Given the description of an element on the screen output the (x, y) to click on. 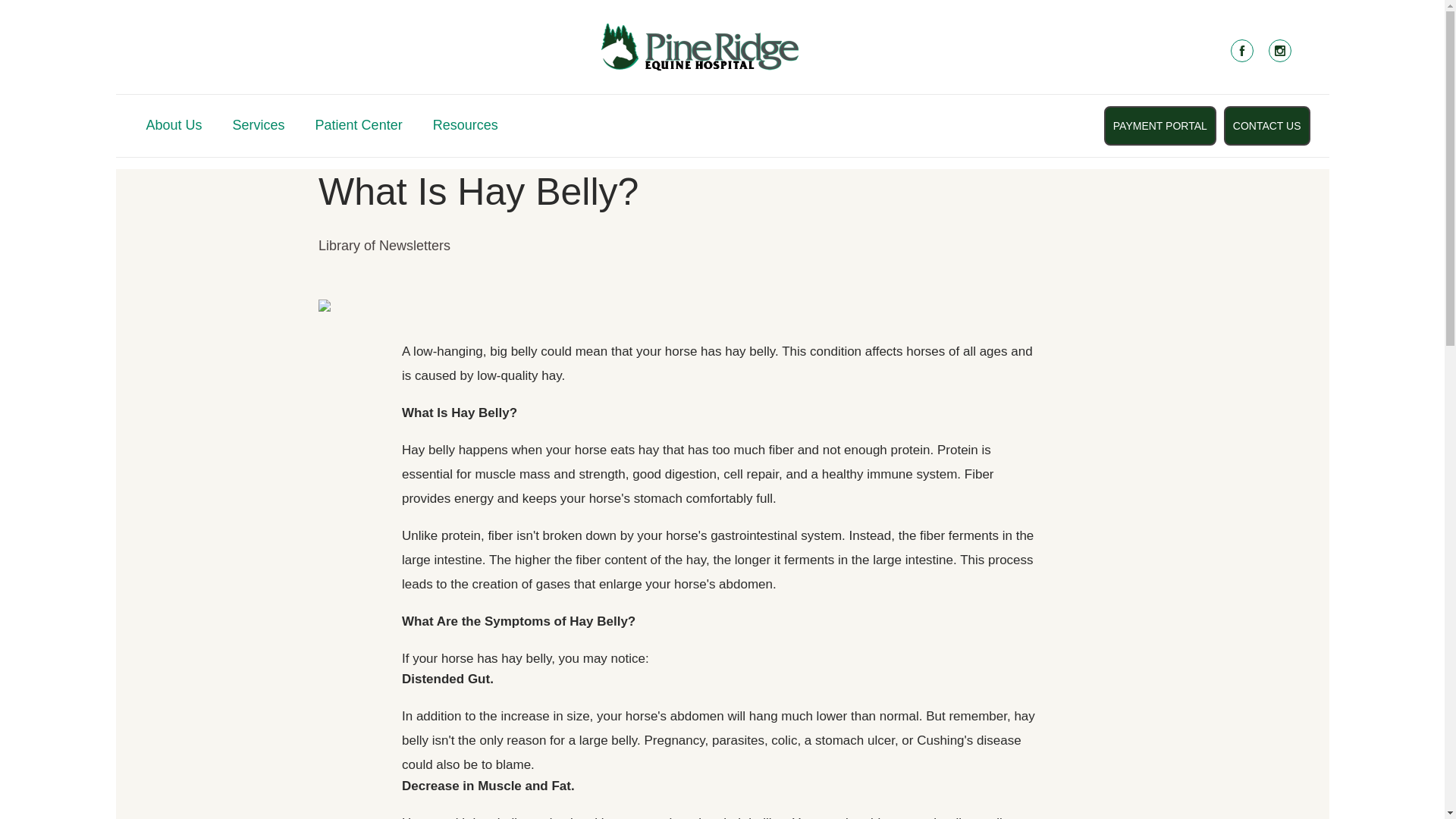
Patient Center (359, 128)
Services (258, 128)
PAYMENT PORTAL (1159, 125)
Instagram (1279, 50)
Resources (464, 128)
Services (258, 128)
Logo (698, 46)
About Us (173, 128)
About Us (173, 128)
CONTACT US (1267, 125)
Facebook (1241, 50)
